Given the description of an element on the screen output the (x, y) to click on. 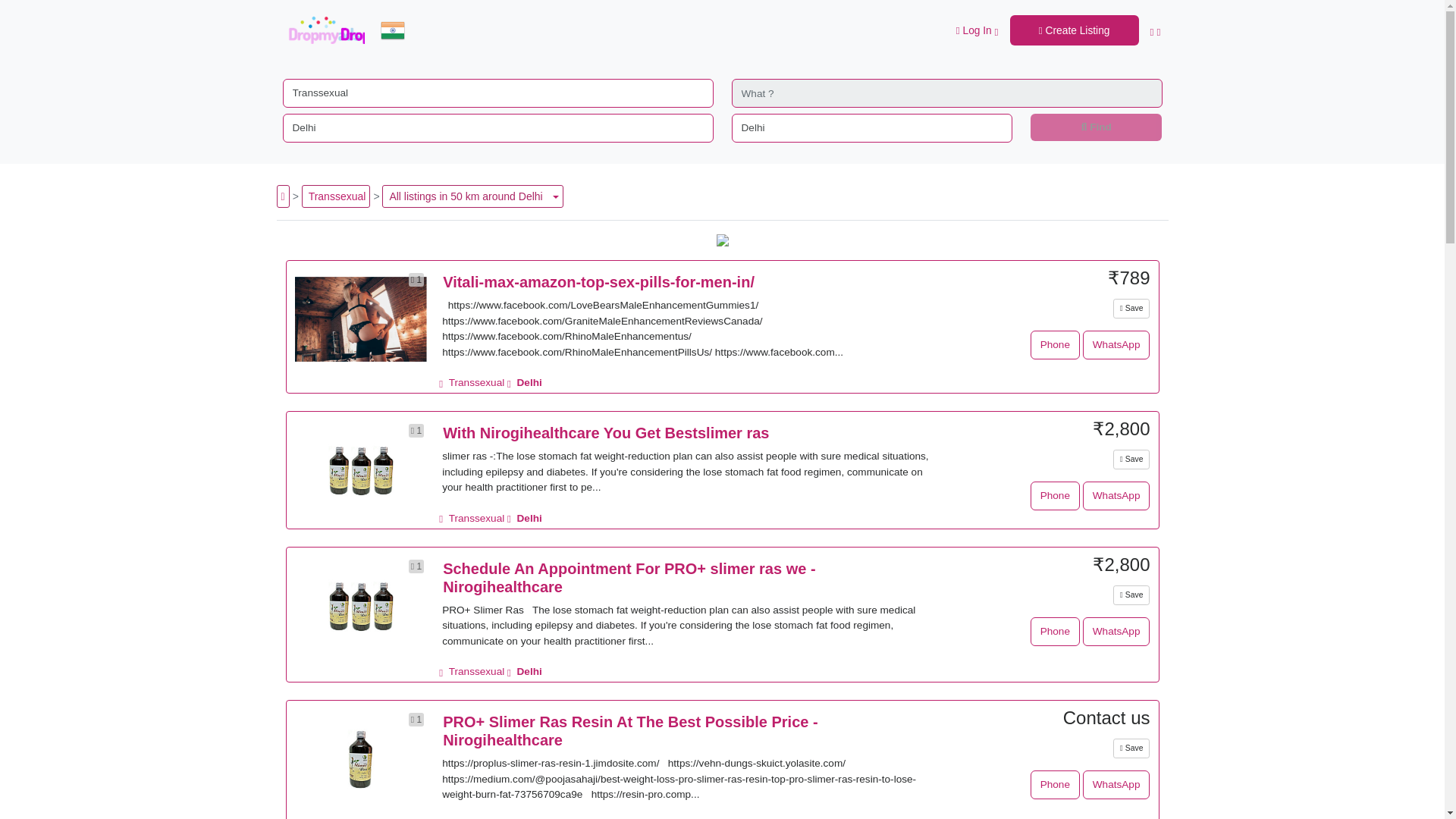
Save (1131, 308)
Find (1095, 126)
Phone (1055, 344)
Transsexual (477, 382)
WhatsApp (1116, 495)
Phone (1055, 631)
Create Listing (1074, 30)
Transsexual (337, 196)
Transsexual (477, 671)
Phone (1055, 495)
Save (1131, 595)
WhatsApp (1116, 344)
Transsexual (477, 518)
With Nirogihealthcare You Get Bestslimer ras (605, 433)
Log In (977, 30)
